Given the description of an element on the screen output the (x, y) to click on. 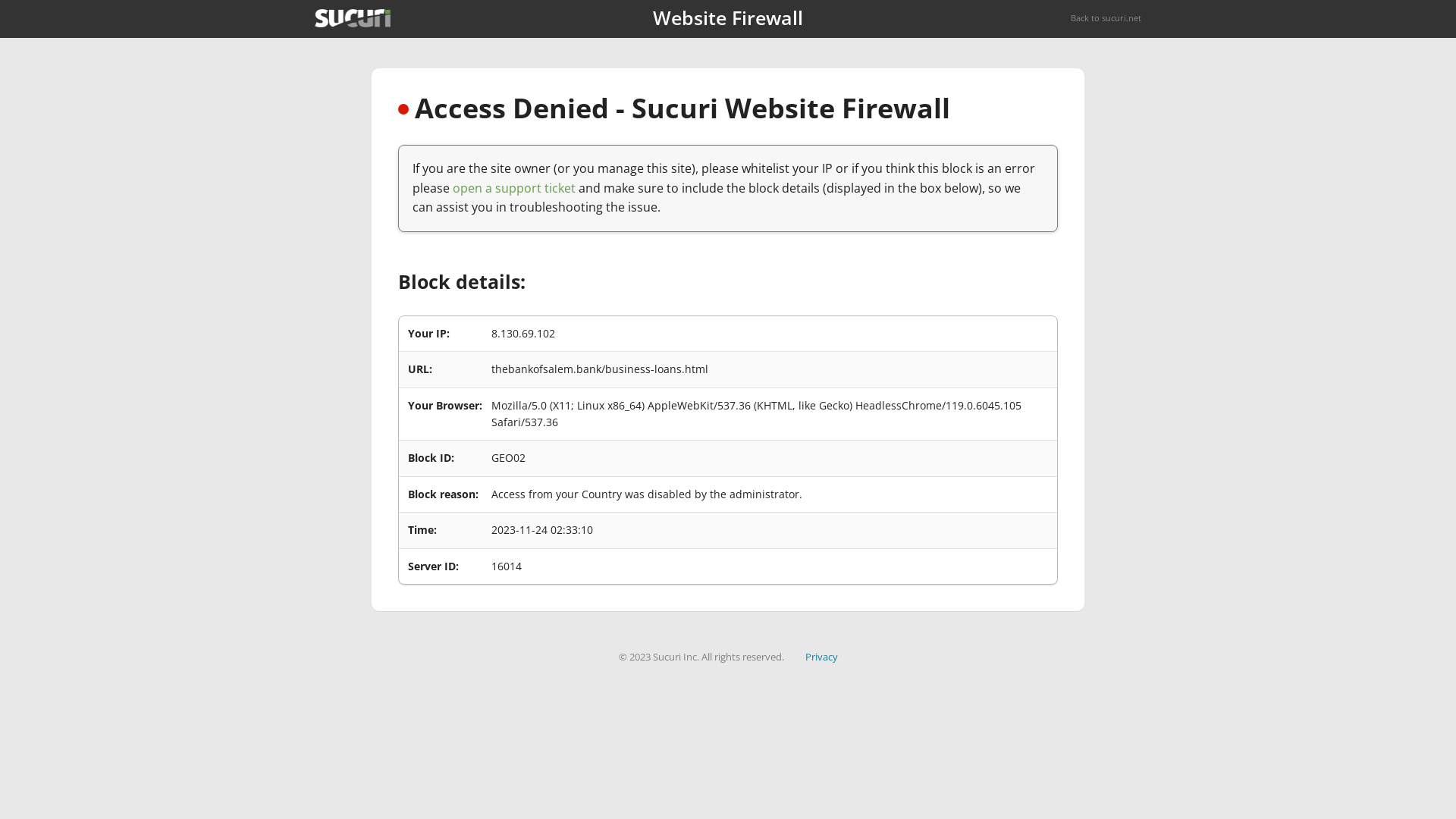
Privacy Element type: text (821, 656)
Back to sucuri.net Element type: text (1105, 18)
open a support ticket Element type: text (513, 187)
